Given the description of an element on the screen output the (x, y) to click on. 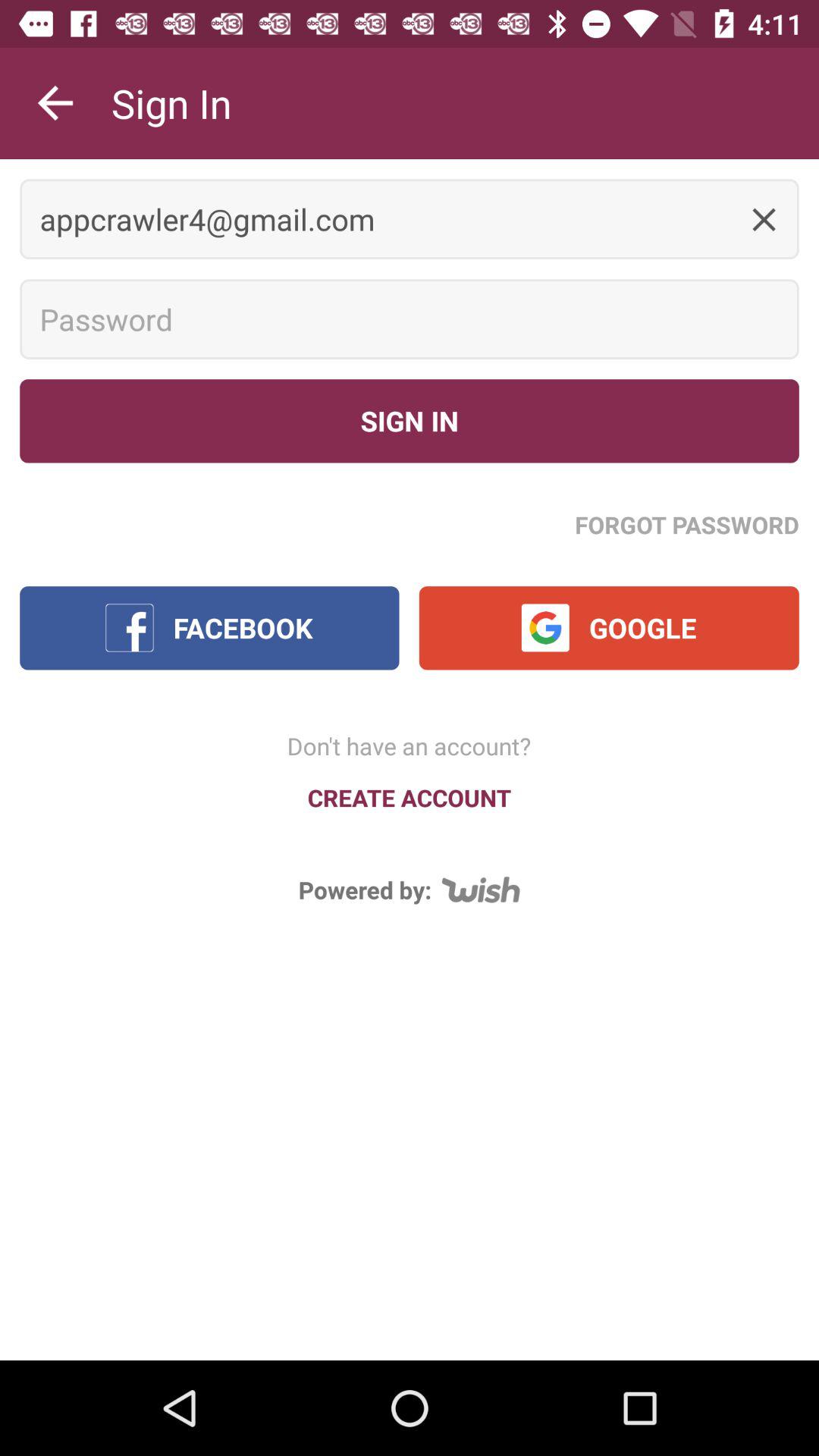
turn on icon above appcrawler4@gmail.com item (55, 103)
